Given the description of an element on the screen output the (x, y) to click on. 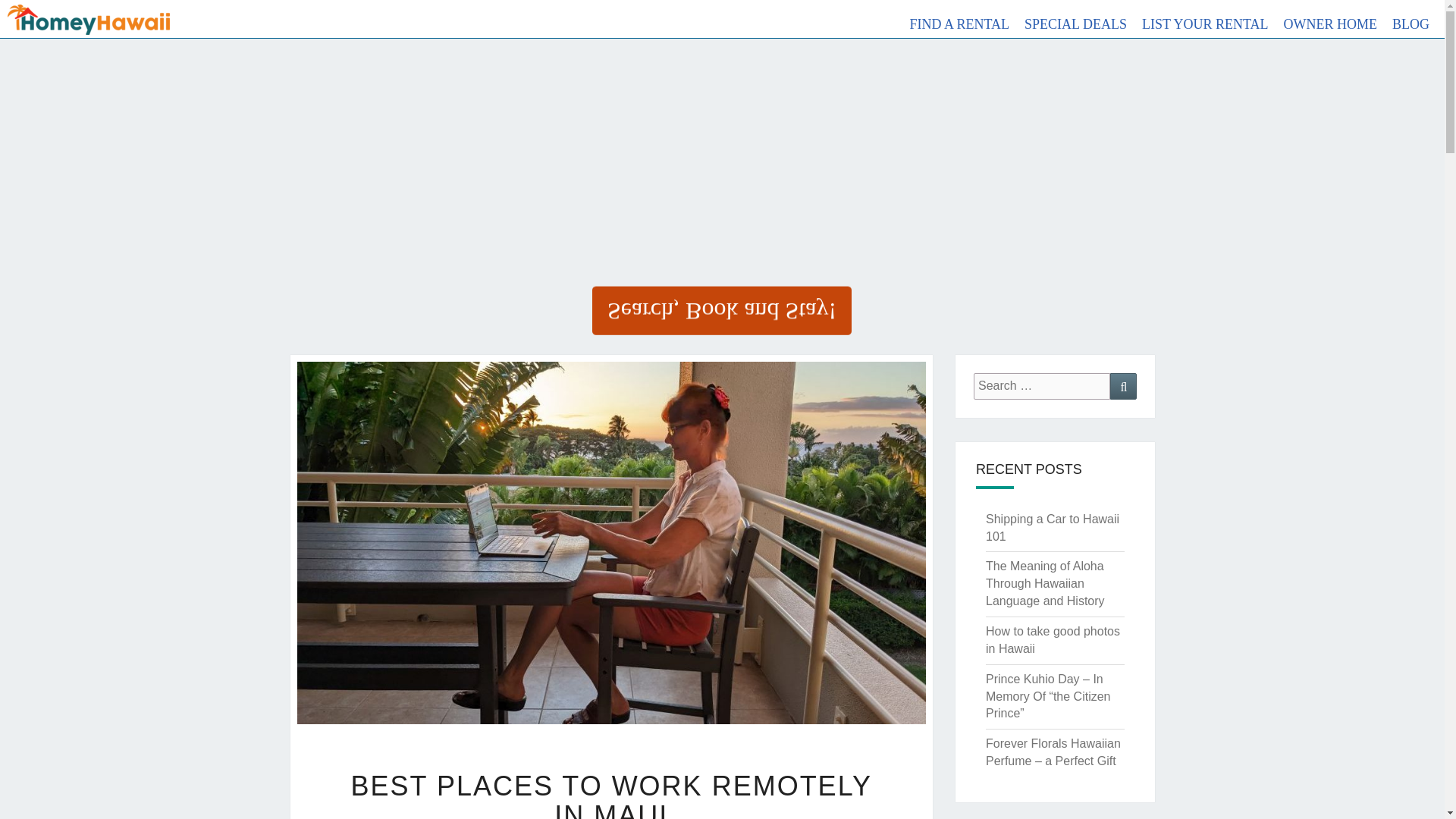
OWNER HOME (1336, 24)
Find a Rental (967, 24)
List your Rental (1212, 24)
FIND A RENTAL (967, 24)
Owner Home (1336, 24)
Search (1123, 386)
How to take good photos in Hawaii (1052, 639)
Shipping a Car to Hawaii 101 (1052, 527)
Special Deals (1083, 24)
Search, Book and Stay! (721, 310)
